Given the description of an element on the screen output the (x, y) to click on. 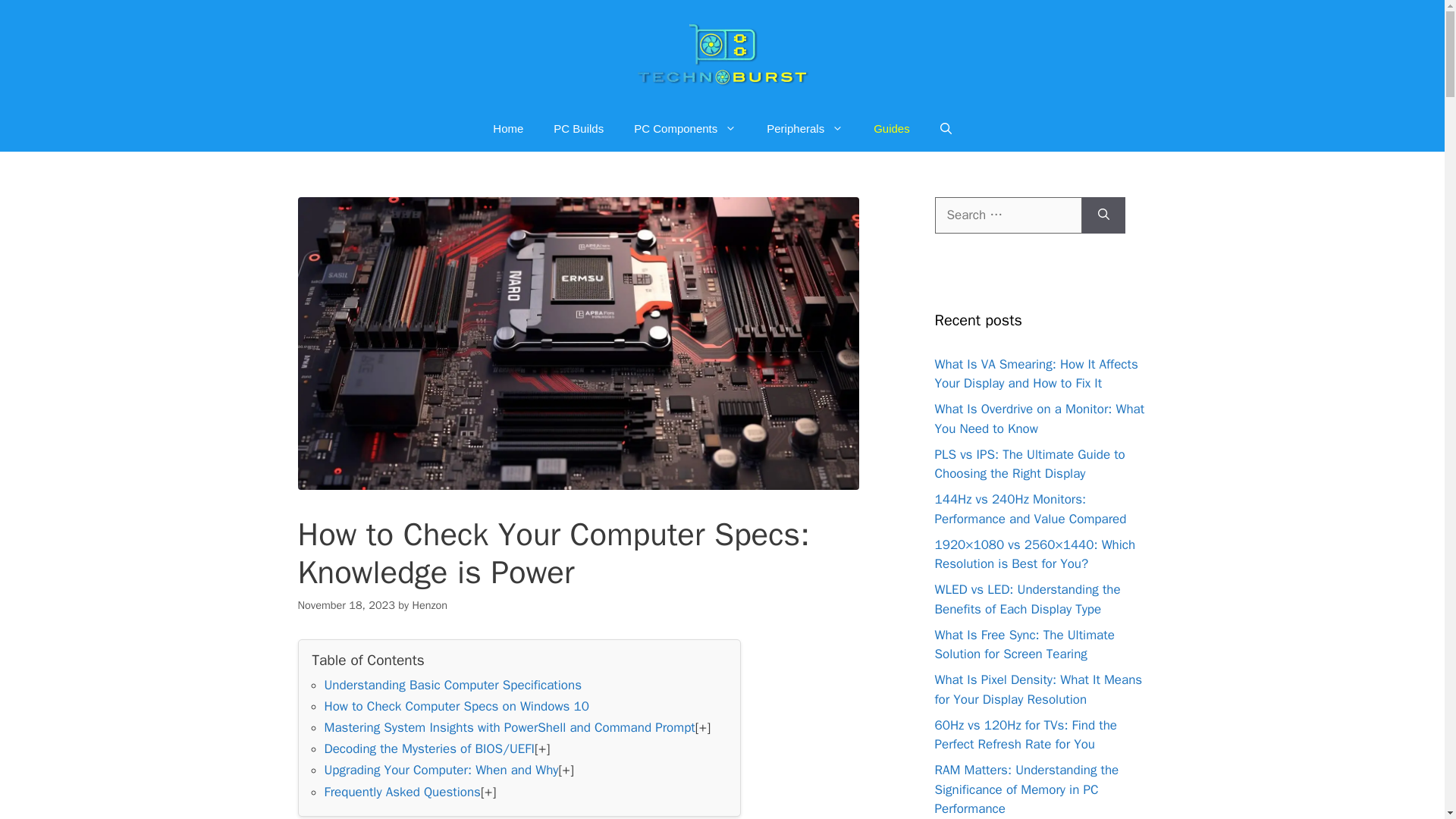
PC Builds (578, 128)
Guides (891, 128)
Frequently Asked Questions (402, 791)
Search for: (1007, 215)
Upgrading Your Computer: When and Why (441, 770)
View all posts by Henzon (429, 604)
How to Check Computer Specs on Windows 10 (456, 706)
Mastering System Insights with PowerShell and Command Prompt (509, 727)
Home (507, 128)
Henzon (429, 604)
Peripherals (805, 128)
PC Components (684, 128)
Understanding Basic Computer Specifications (453, 684)
